Given the description of an element on the screen output the (x, y) to click on. 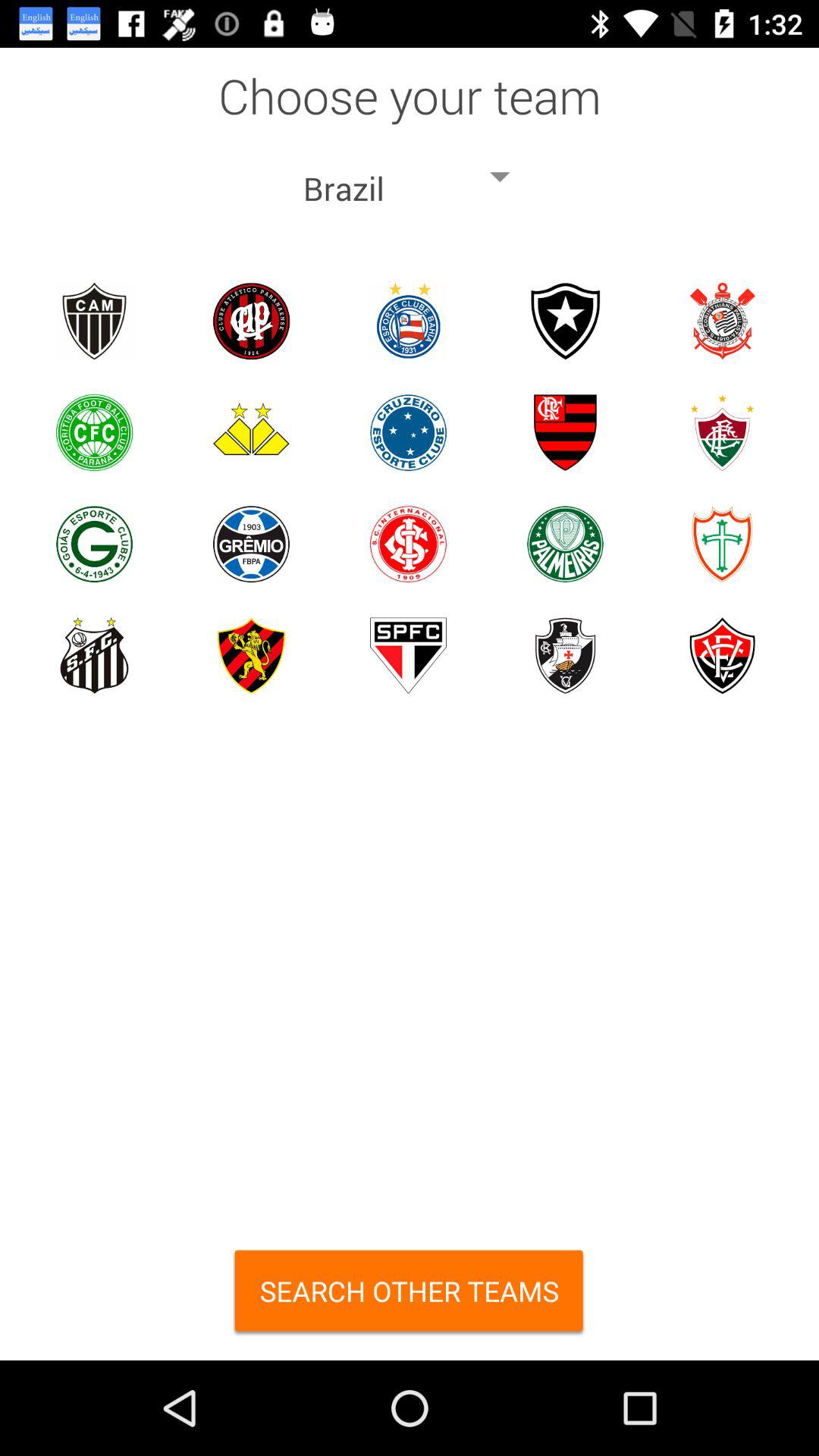
choose the team (251, 321)
